Given the description of an element on the screen output the (x, y) to click on. 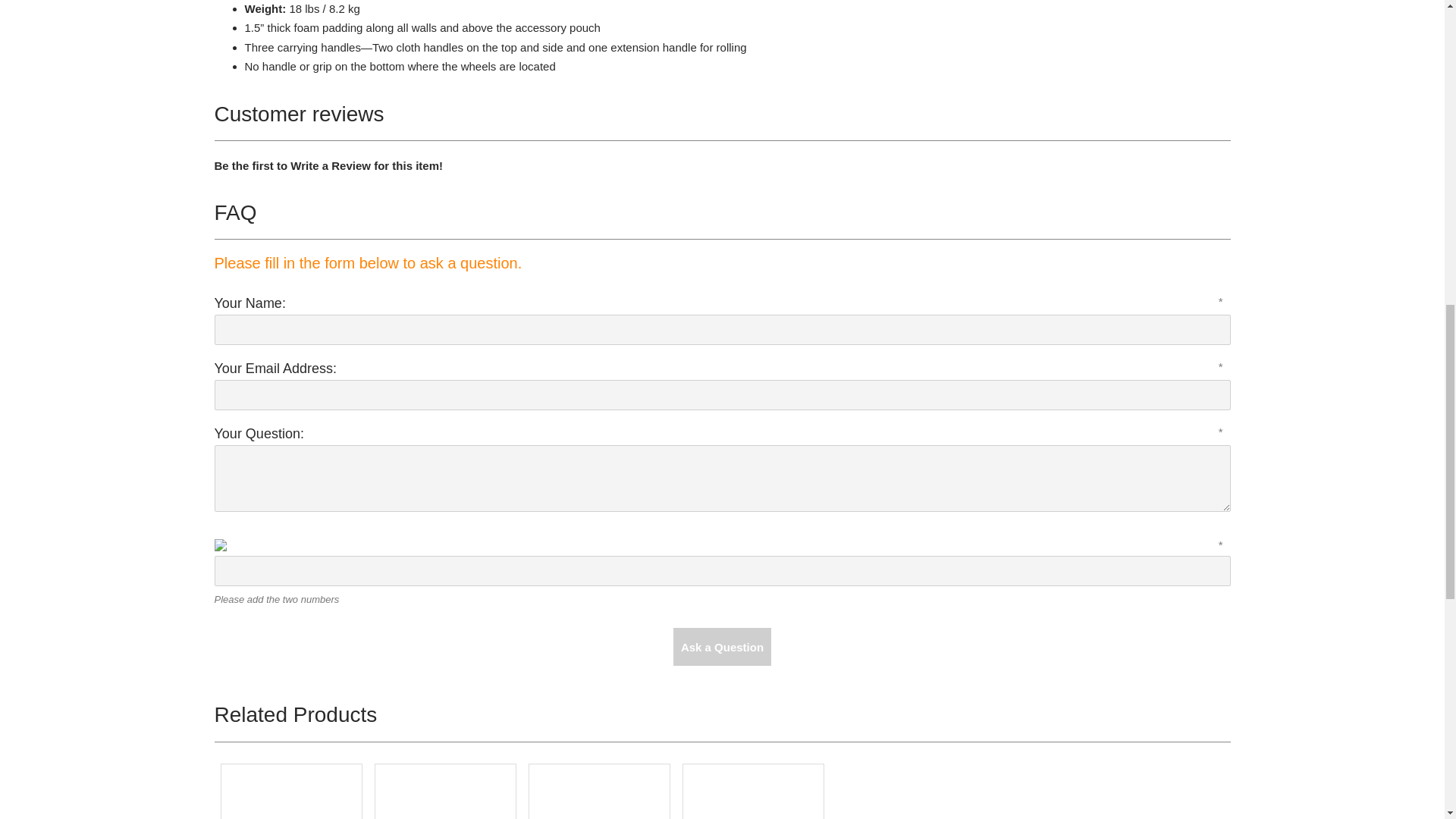
Write a Review (330, 164)
Ask a Question (721, 646)
